Given the description of an element on the screen output the (x, y) to click on. 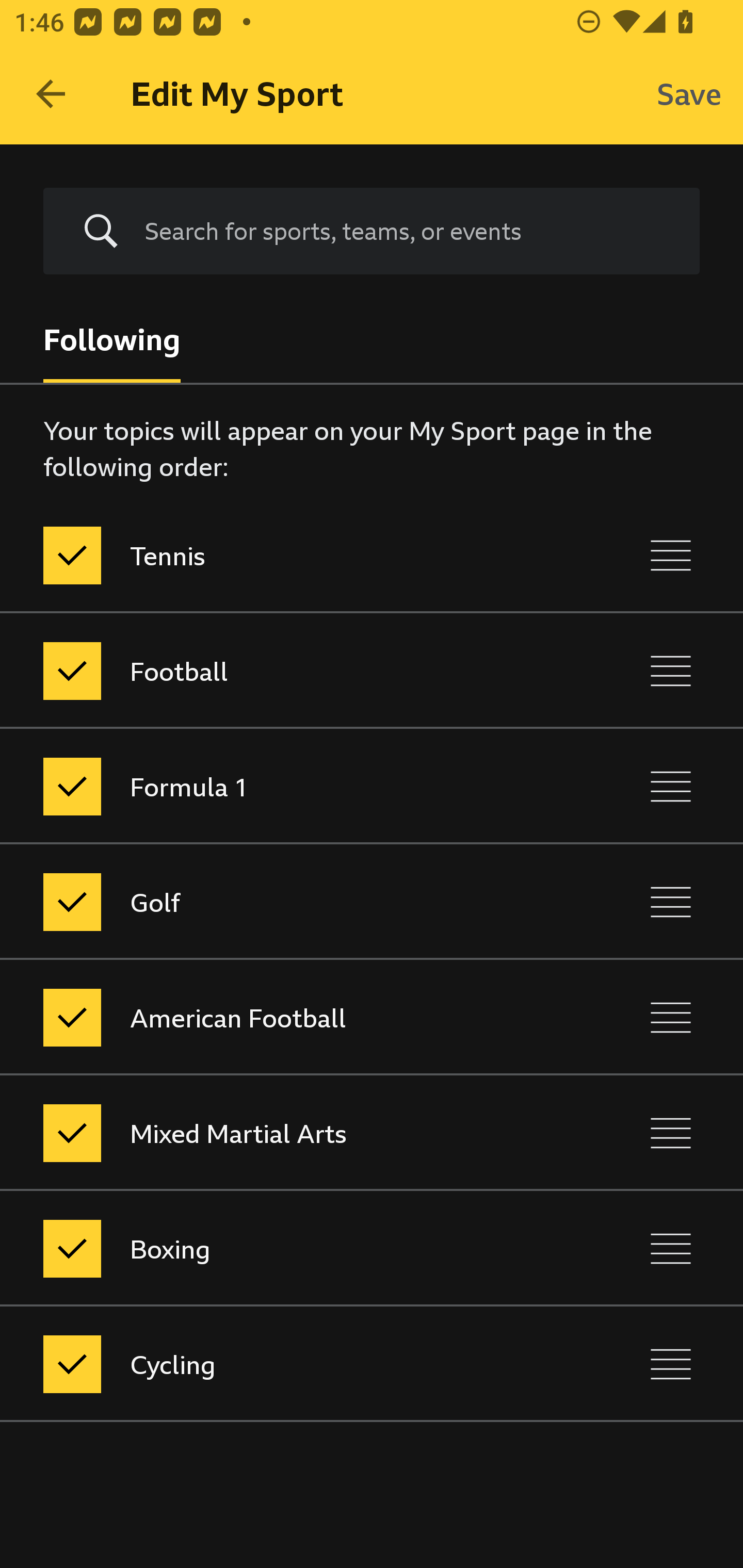
Navigate up (50, 93)
Save (689, 93)
Search for sports, teams, or events (371, 231)
Search for sports, teams, or events (407, 231)
Tennis (284, 555)
Reorder Tennis (670, 555)
Football (284, 671)
Reorder Football (670, 671)
Formula 1 (284, 786)
Reorder Formula 1 (670, 786)
Golf (284, 901)
Reorder Golf (670, 901)
American Football (284, 1017)
Reorder American Football (670, 1017)
Mixed Martial Arts (284, 1133)
Reorder Mixed Martial Arts (670, 1133)
Boxing (284, 1248)
Reorder Boxing (670, 1248)
Cycling (284, 1364)
Reorder Cycling (670, 1364)
